Given the description of an element on the screen output the (x, y) to click on. 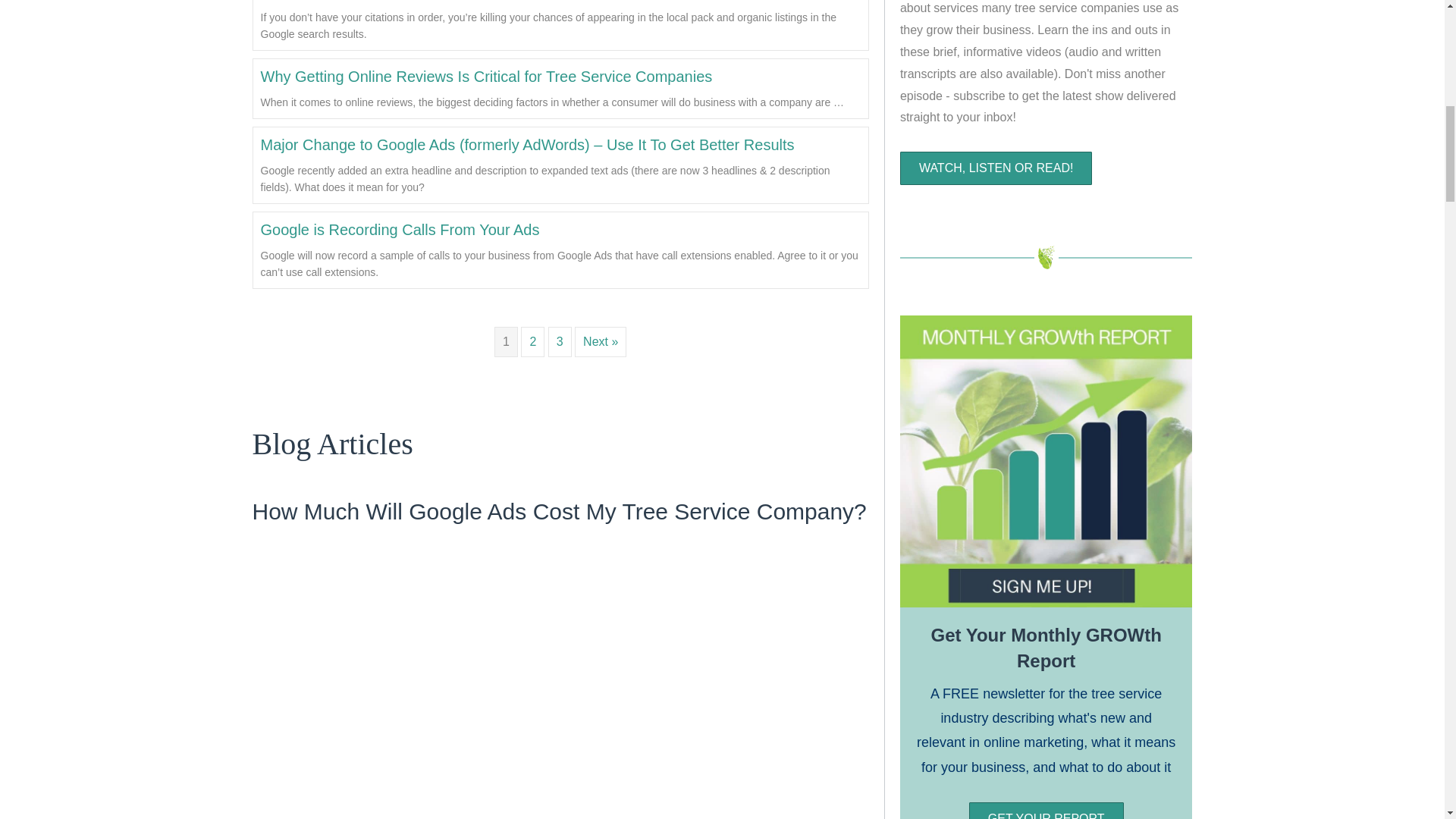
How Much Will Google Ads Cost My Tree Service Company? (558, 511)
Google is Recording Calls From Your Ads (400, 229)
Google is Recording Calls From Your Ads (400, 229)
How Much Will Google Ads Cost My Tree Service Company? (558, 511)
How Much Will Google Ads Cost My Tree Service Company? (559, 692)
